Given the description of an element on the screen output the (x, y) to click on. 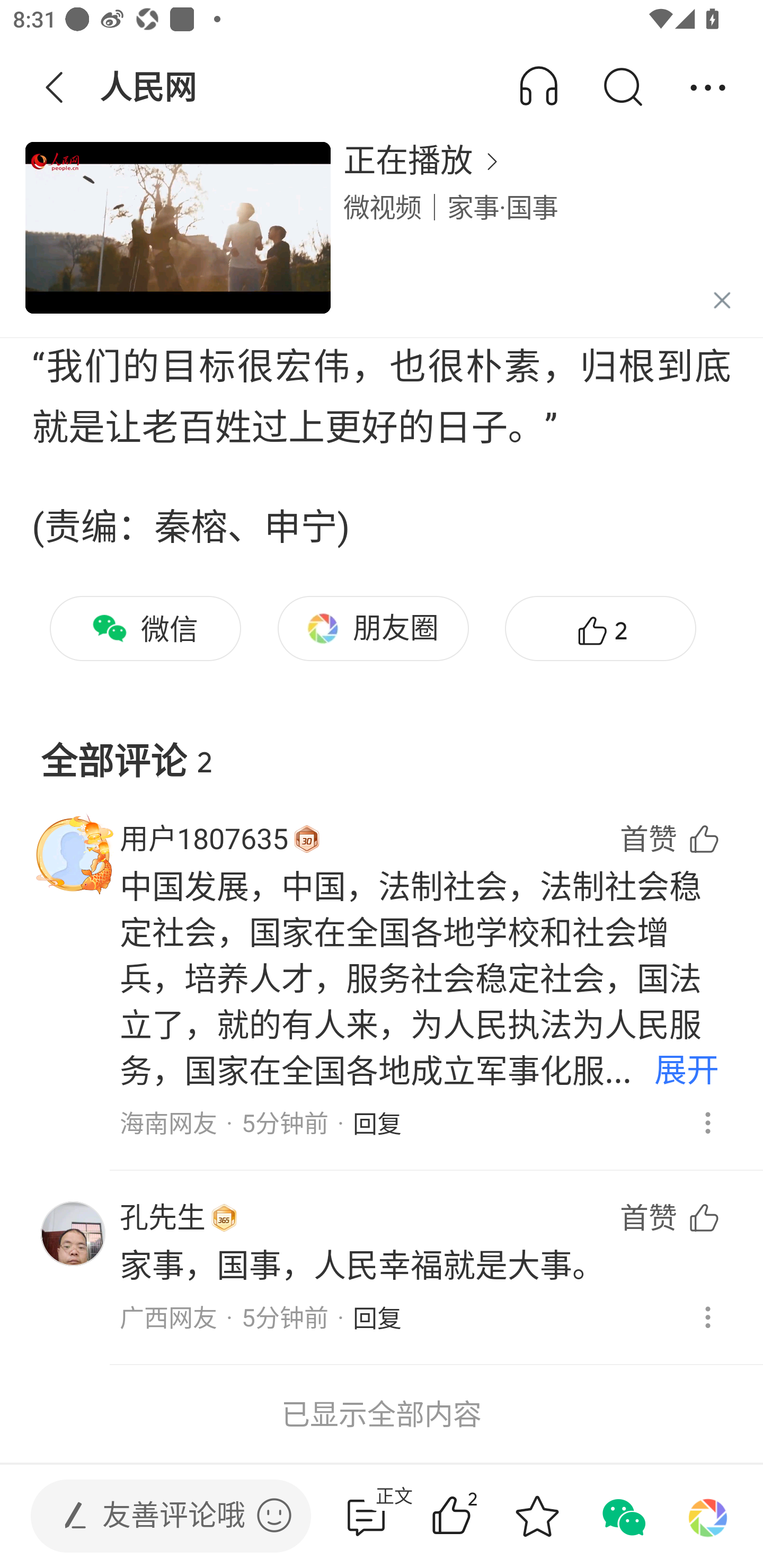
人民网 (150, 87)
搜索  (622, 87)
分享  (707, 87)
 返回 (54, 87)
正在播放  微视频｜家事·国事 (381, 237)
正在播放  微视频｜家事·国事 (540, 237)
微信 分享到微信 (145, 628)
朋友圈 分享到朋友圈 (373, 628)
2赞 (600, 628)
全部评论 2 (381, 746)
UserRightLabel_OneMedalView 勋章 (306, 838)
展开 (686, 1071)
UserRightLabel_OneMedalView 勋章 (223, 1218)
已显示全部内容 (381, 1413)
发表评论  友善评论哦 发表评论  (155, 1516)
2评论  正文 正文 (365, 1516)
2赞 (476, 1516)
收藏  (536, 1516)
分享到微信  (622, 1516)
分享到朋友圈 (707, 1516)
 (274, 1515)
